Given the description of an element on the screen output the (x, y) to click on. 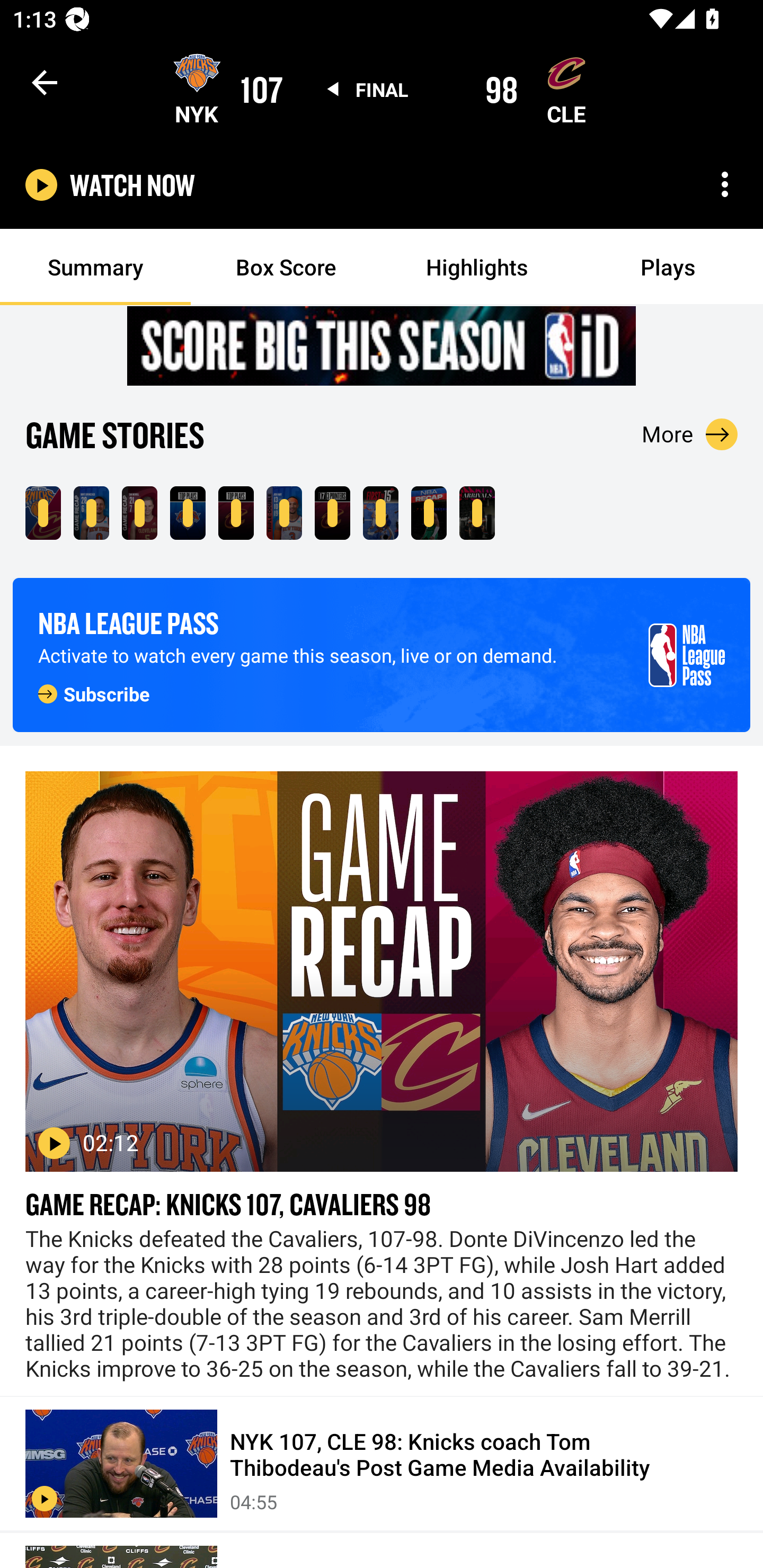
Navigate up (44, 82)
More options (724, 183)
WATCH NOW (132, 184)
Box Score (285, 266)
Highlights (476, 266)
Plays (667, 266)
More (689, 434)
NEW NYK 107, CLE 98 - Mar 3 (43, 512)
NEW Highlights From Sam Merrill's 21-Point Game (139, 512)
NEW NYK's Top Plays from NYK vs. CLE (187, 512)
NEW CLE's Top Plays from NYK vs. CLE (236, 512)
Highlights from Josh Hart's Triple-Double NEW (284, 512)
All 3-pointers from CLE's 17 3-pointer Night NEW (332, 512)
First To 15, Mar. 3rd NEW (380, 512)
Sunday's Recap NEW (428, 512)
Steppin' Into Sunday 🔥 NEW (477, 512)
